Given the description of an element on the screen output the (x, y) to click on. 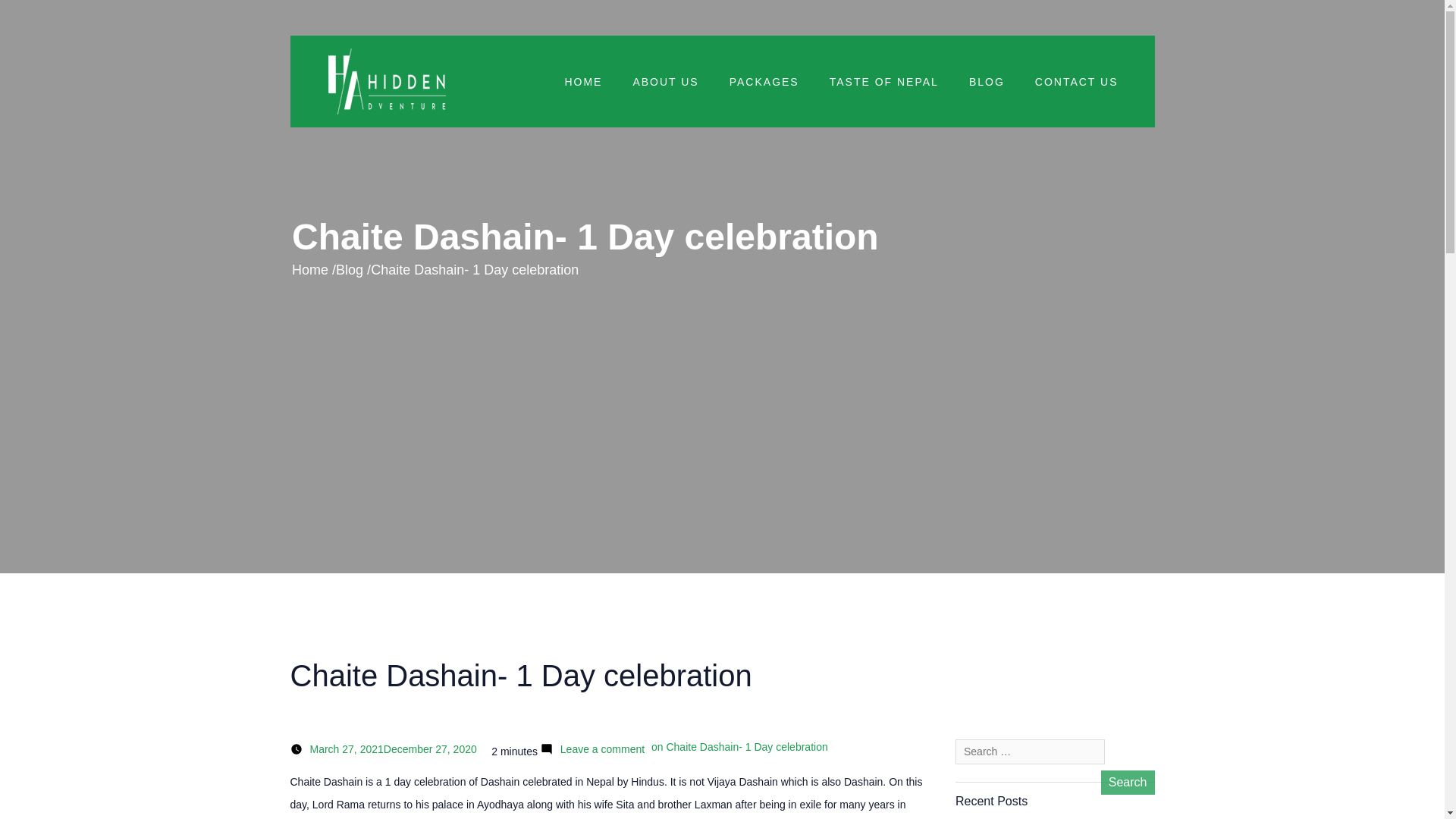
Hidden Adventure (386, 81)
CONTACT US (1076, 81)
Search (1127, 782)
March 27, 2021December 27, 2020 (391, 748)
Leave a comment on Chaite Dashain- 1 Day celebration (692, 748)
PACKAGES (764, 81)
Home (310, 269)
Search (1127, 782)
Search (1127, 782)
ABOUT US (664, 81)
